Given the description of an element on the screen output the (x, y) to click on. 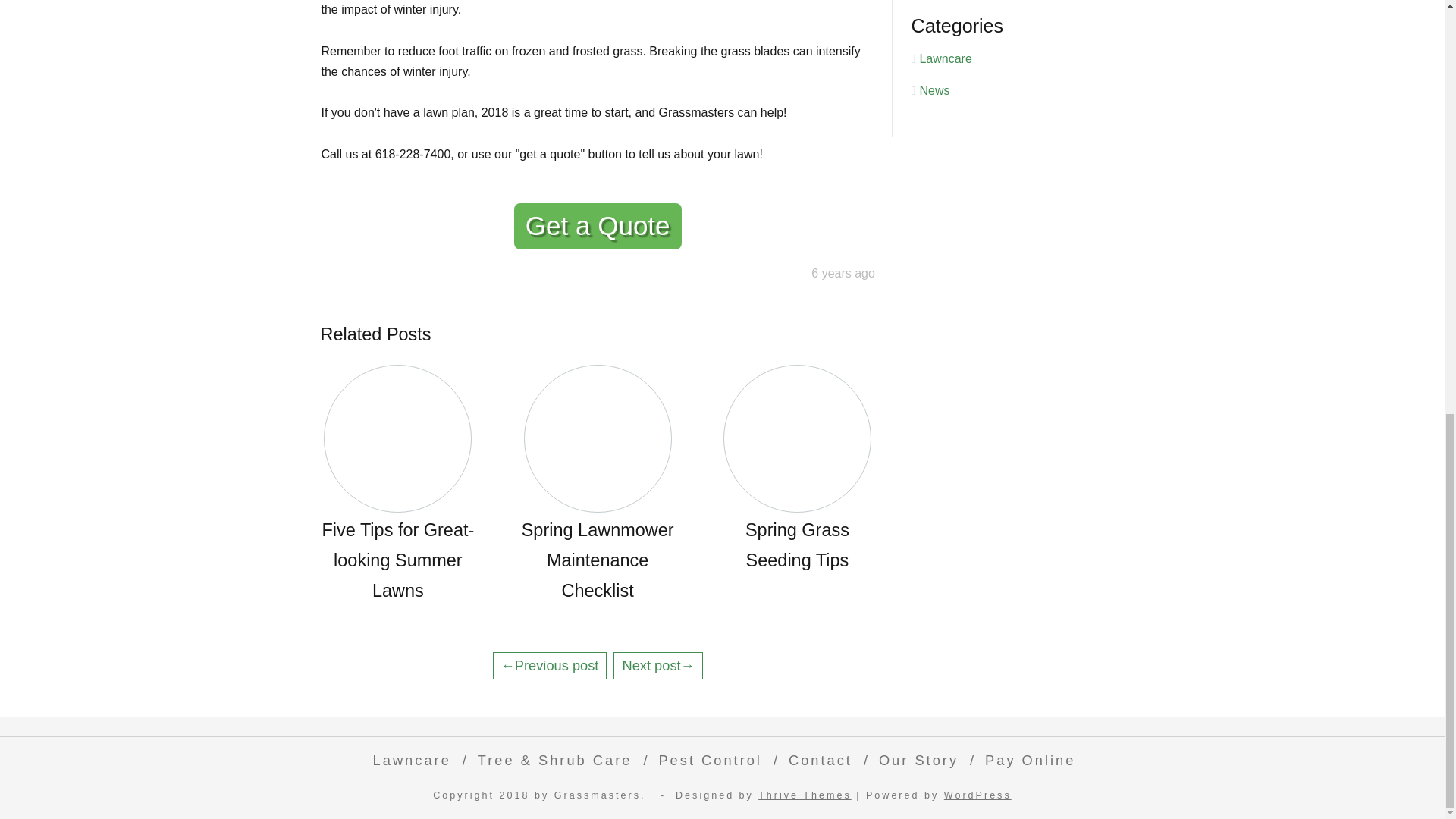
Lawncare (944, 58)
Get a Quote (597, 226)
Contact (816, 760)
Our Story (914, 760)
Pest Control (706, 760)
Lawncare (408, 760)
News (933, 90)
